Given the description of an element on the screen output the (x, y) to click on. 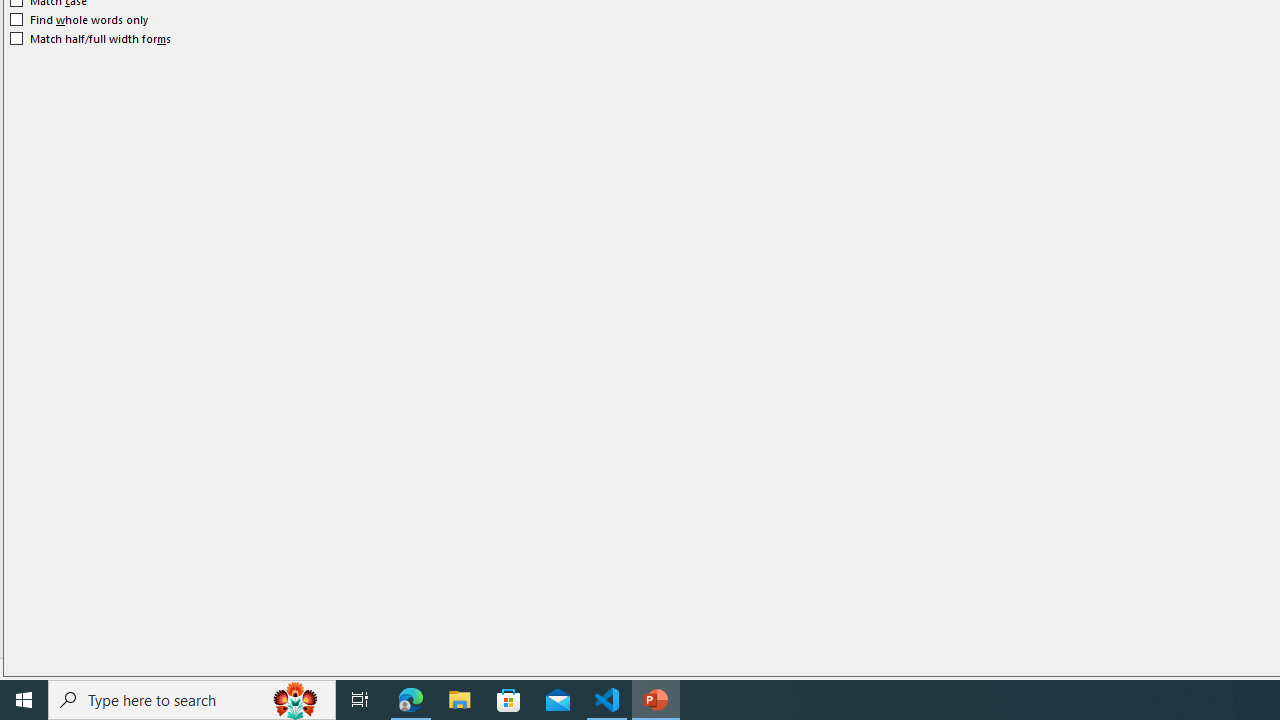
Find whole words only (79, 20)
Match half/full width forms (91, 38)
